Given the description of an element on the screen output the (x, y) to click on. 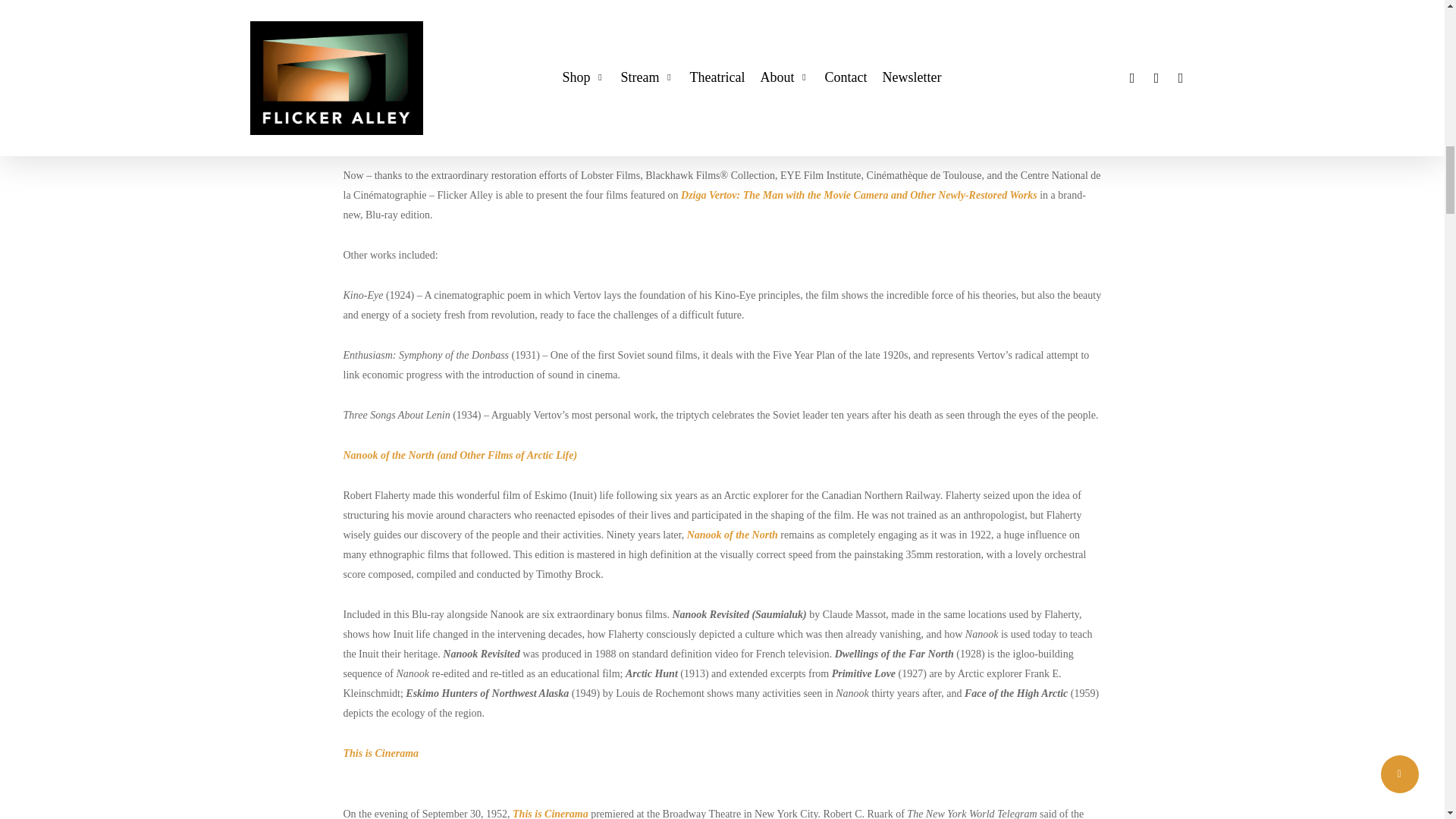
This is Cinerama (380, 753)
Nanook of the North (732, 534)
Nanook of the North (671, 56)
The Man with the Movie Camera (915, 115)
